Given the description of an element on the screen output the (x, y) to click on. 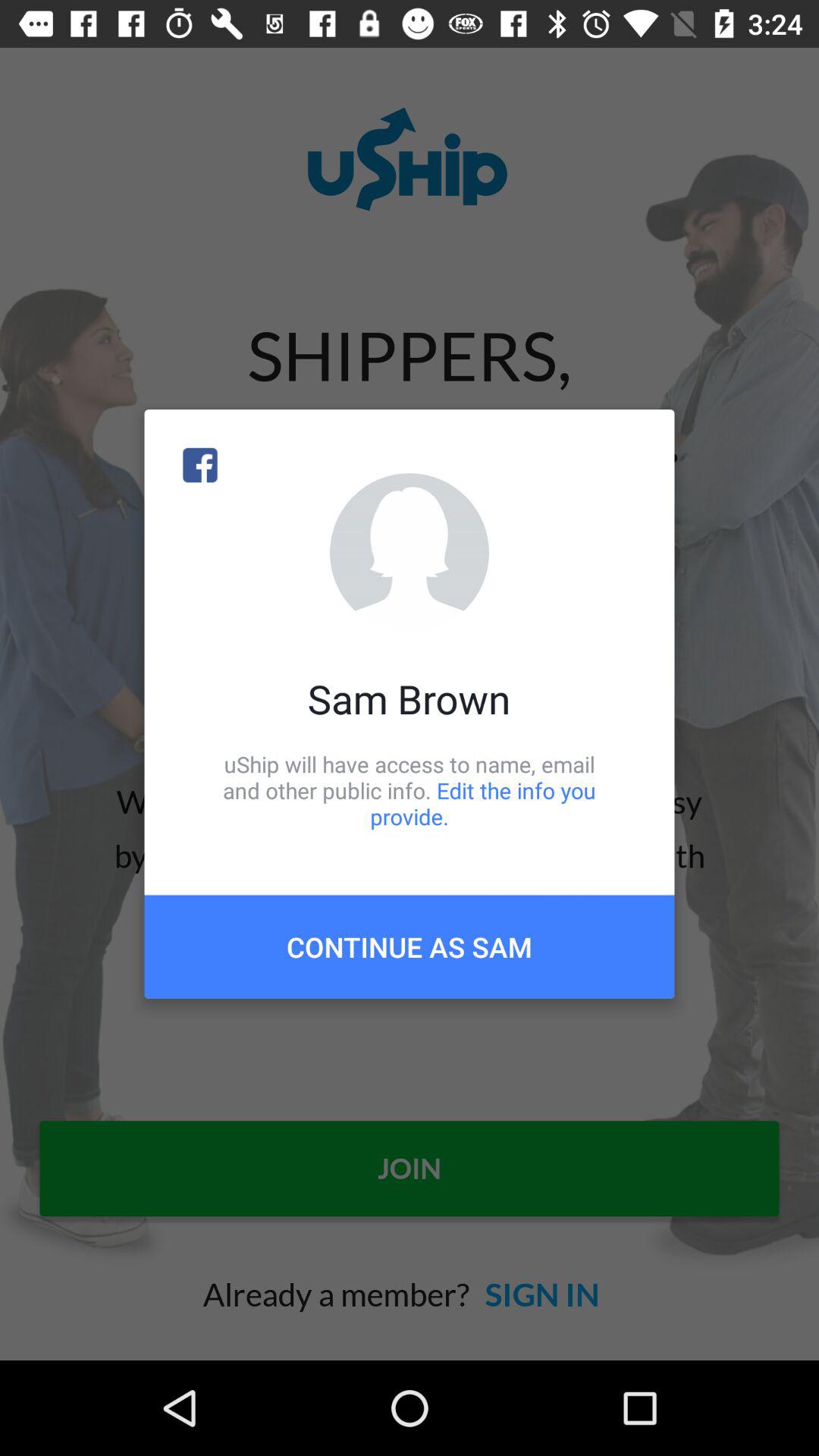
select the continue as sam item (409, 946)
